Given the description of an element on the screen output the (x, y) to click on. 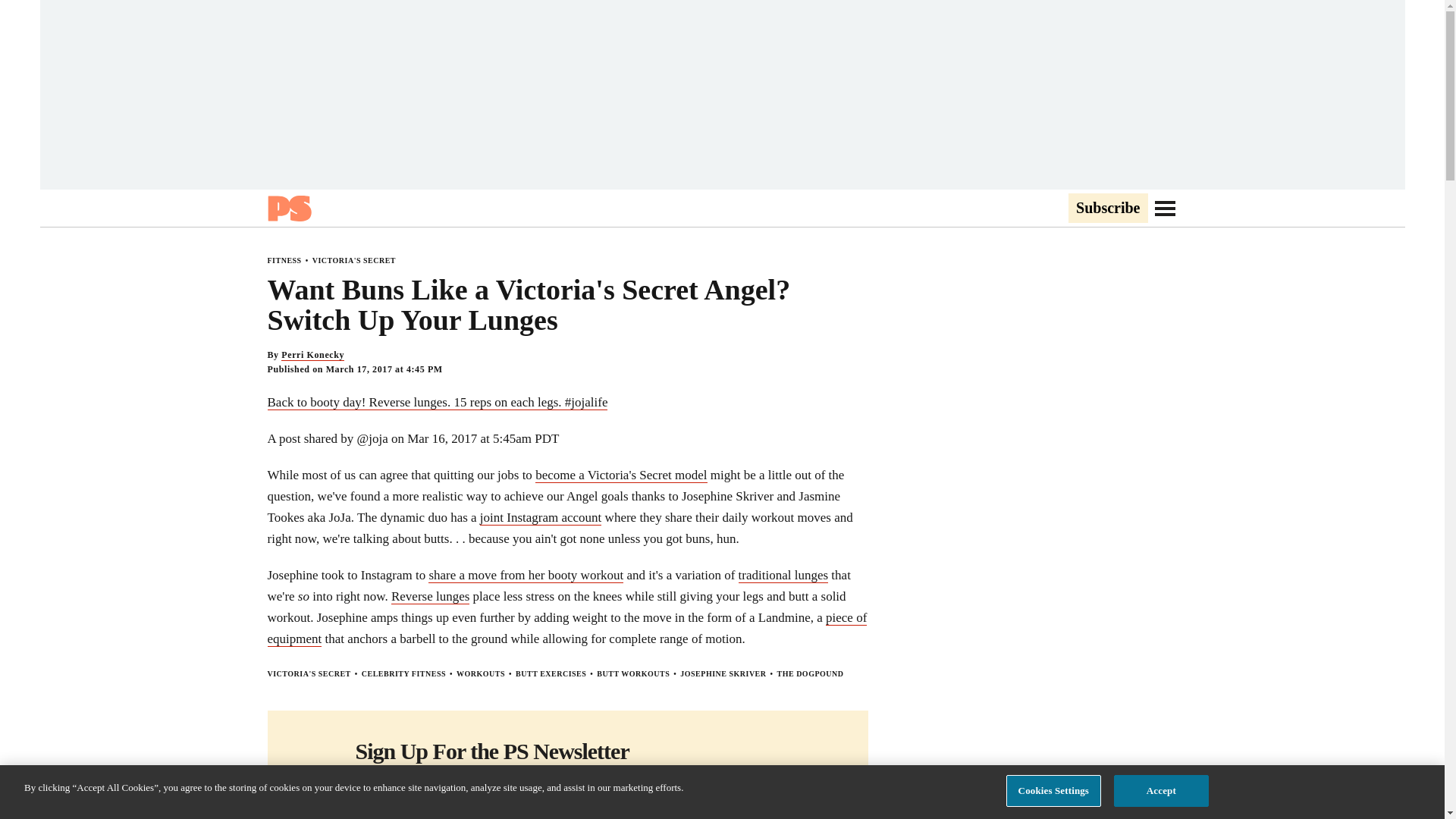
BUTT EXERCISES (550, 673)
WORKOUTS (481, 673)
BUTT WORKOUTS (632, 673)
Perri Konecky (312, 355)
Reverse lunges (429, 596)
VICTORIA'S SECRET (308, 673)
FITNESS (283, 260)
Subscribe (806, 817)
joint Instagram account (541, 517)
piece of equipment (566, 628)
THE DOGPOUND (810, 673)
share a move from her booty workout (525, 575)
VICTORIA'S SECRET (354, 260)
CELEBRITY FITNESS (403, 673)
Go to Navigation (1164, 207)
